Given the description of an element on the screen output the (x, y) to click on. 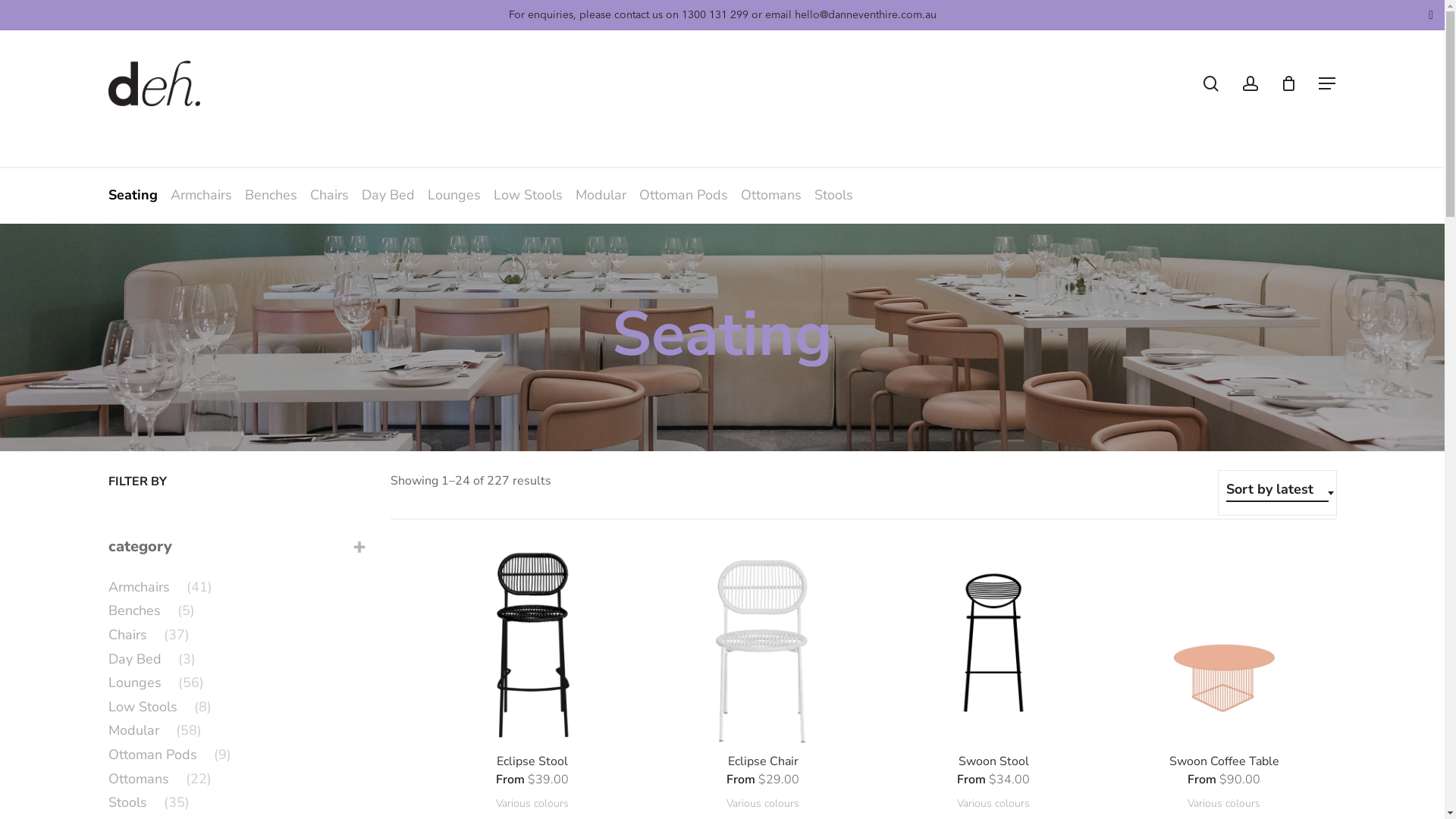
Seating Element type: text (131, 194)
Eclipse Chair Element type: text (762, 761)
search Element type: text (1210, 83)
Ottoman Pods Element type: text (684, 194)
Day Bed Element type: text (388, 194)
Low Stools Element type: text (528, 194)
Benches Element type: text (272, 194)
Lounges Element type: text (455, 194)
Stools Element type: text (833, 194)
Swoon Coffee Table Element type: text (1224, 761)
hello@danneventhire.com.au Element type: text (865, 14)
Armchairs Element type: text (202, 194)
Swoon Stool Element type: text (993, 761)
Ottomans Element type: text (772, 194)
Menu Element type: text (1326, 83)
account Element type: text (1249, 83)
Eclipse Stool Element type: text (531, 761)
+ Element type: text (359, 546)
Chairs Element type: text (330, 194)
Modular Element type: text (601, 194)
1300 131 299 Element type: text (713, 14)
